Given the description of an element on the screen output the (x, y) to click on. 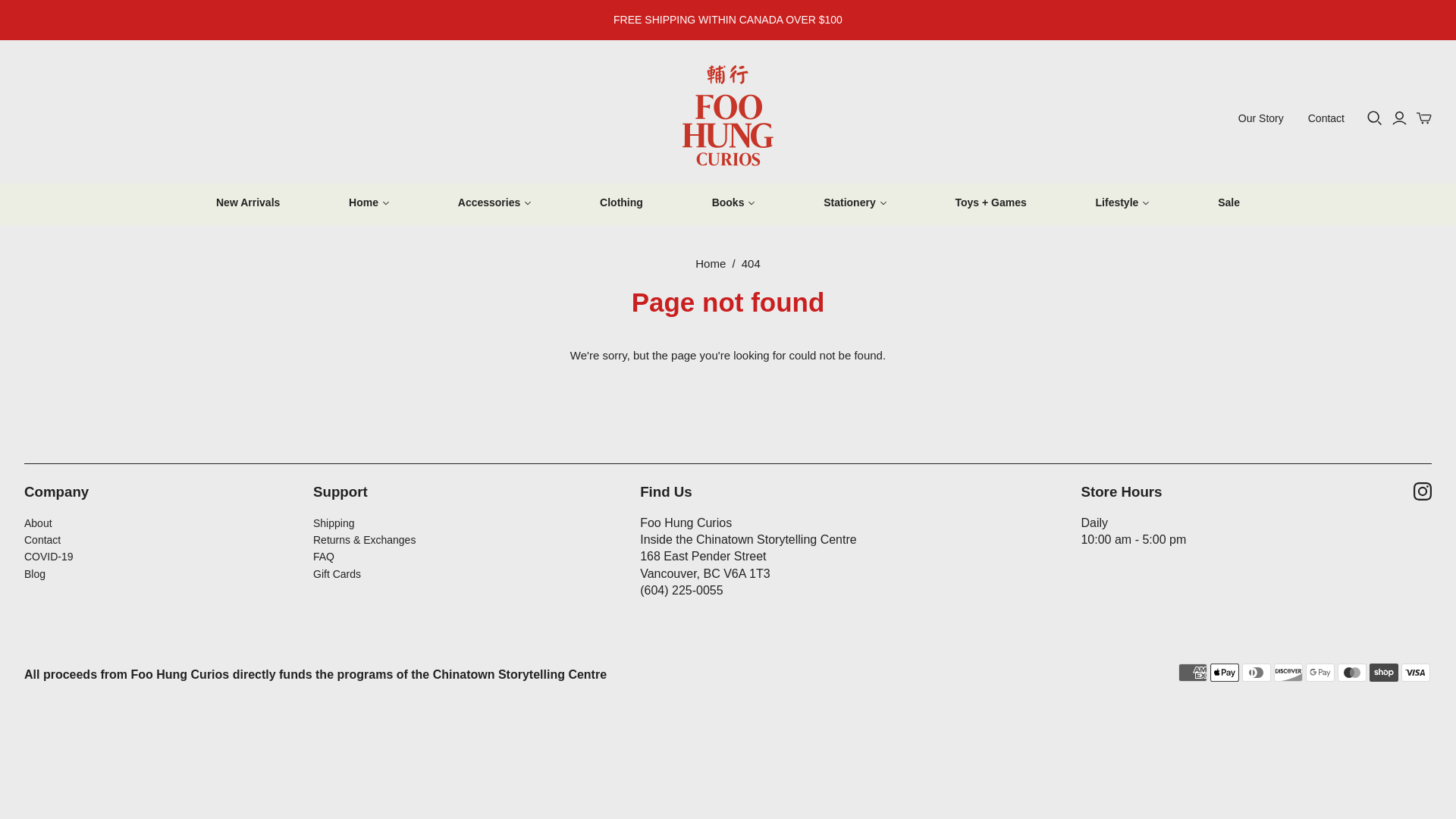
Accessories (494, 202)
Visa (1414, 672)
Mastercard (1352, 672)
Our Story (1260, 117)
Lifestyle (1122, 202)
Books (733, 202)
Clothing (621, 202)
Contact (1326, 117)
Shop Pay (1383, 672)
Google Pay (1320, 672)
Discover (1288, 672)
Stationery (853, 202)
New Arrivals (247, 202)
Home (368, 202)
Diners Club (1256, 672)
